Given the description of an element on the screen output the (x, y) to click on. 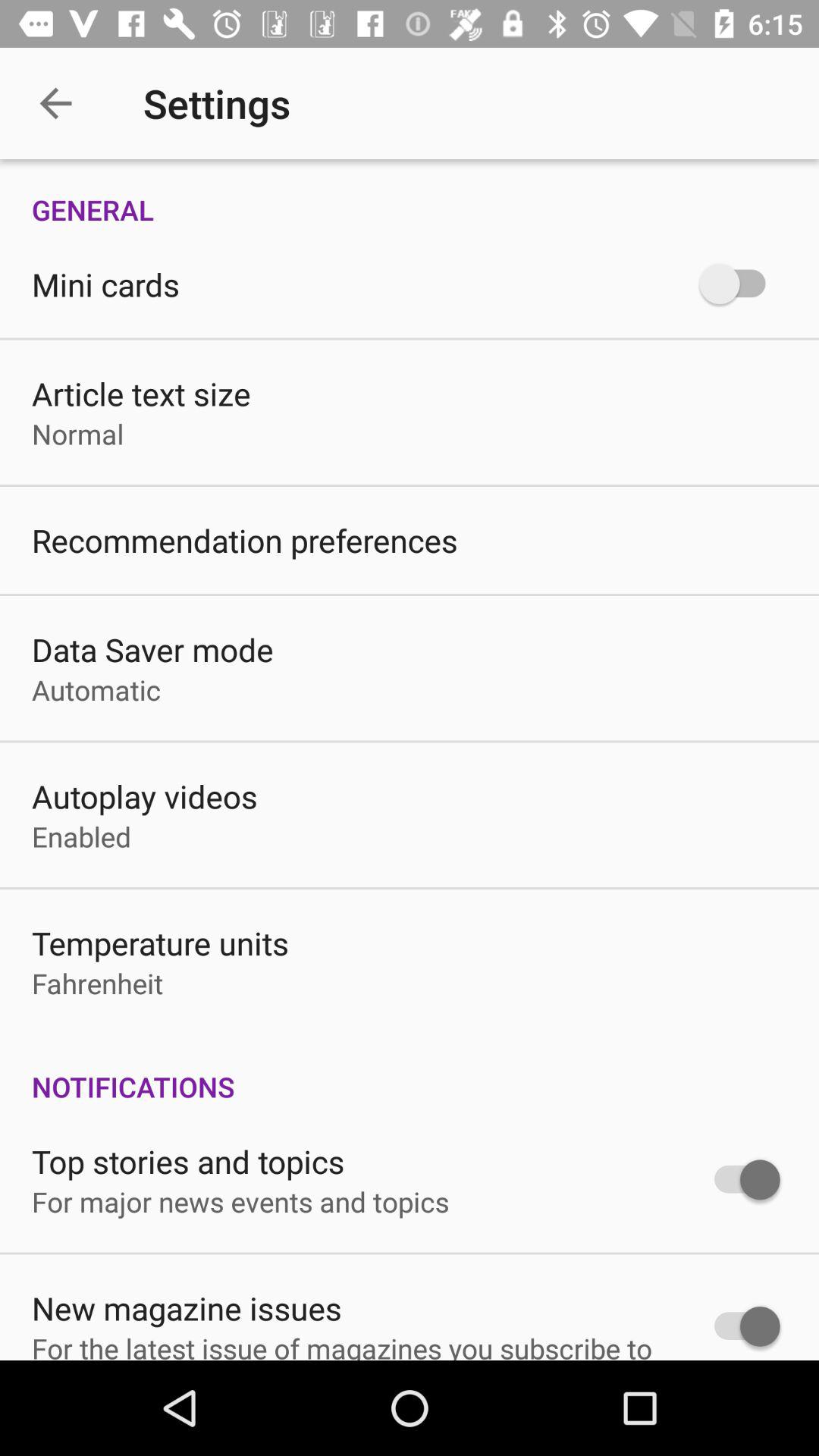
press icon above the article text size item (105, 283)
